Given the description of an element on the screen output the (x, y) to click on. 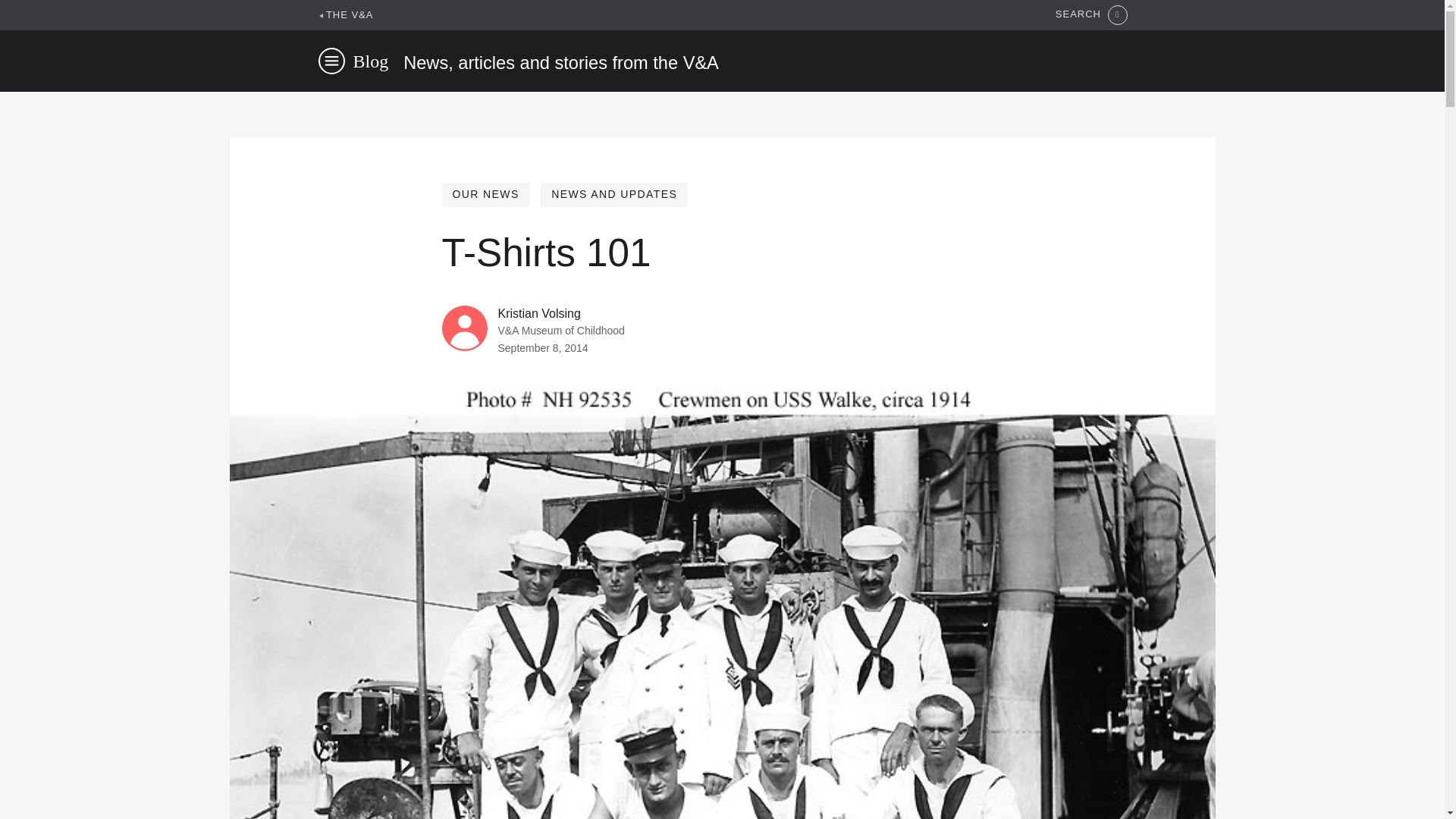
OUR NEWS (485, 194)
Posts by Kristian Volsing (538, 313)
NEWS AND UPDATES (613, 194)
SEARCH (1090, 15)
Blog (370, 60)
Kristian Volsing (538, 313)
